Given the description of an element on the screen output the (x, y) to click on. 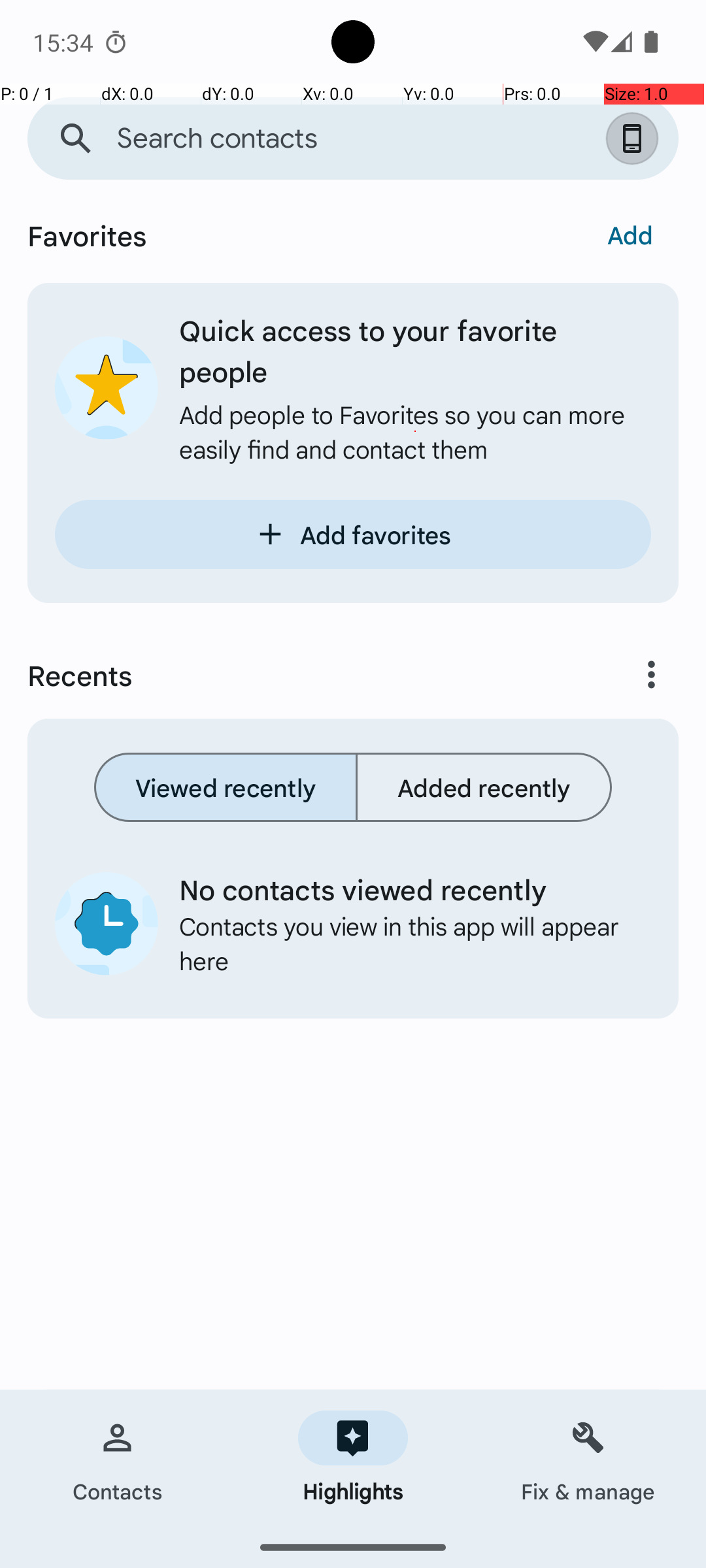
Quick access to your favorite people Element type: android.widget.TextView (415, 350)
Add people to Favorites so you can more easily find and contact them Element type: android.widget.TextView (415, 431)
Add favorites Element type: android.widget.Button (352, 534)
No contacts viewed recently Element type: android.widget.TextView (404, 888)
Contacts you view in this app will appear here Element type: android.widget.TextView (404, 942)
Viewed recently Element type: android.widget.CompoundButton (225, 787)
Added recently Element type: android.widget.CompoundButton (483, 787)
Wifi signal full. Element type: android.widget.FrameLayout (593, 41)
